Given the description of an element on the screen output the (x, y) to click on. 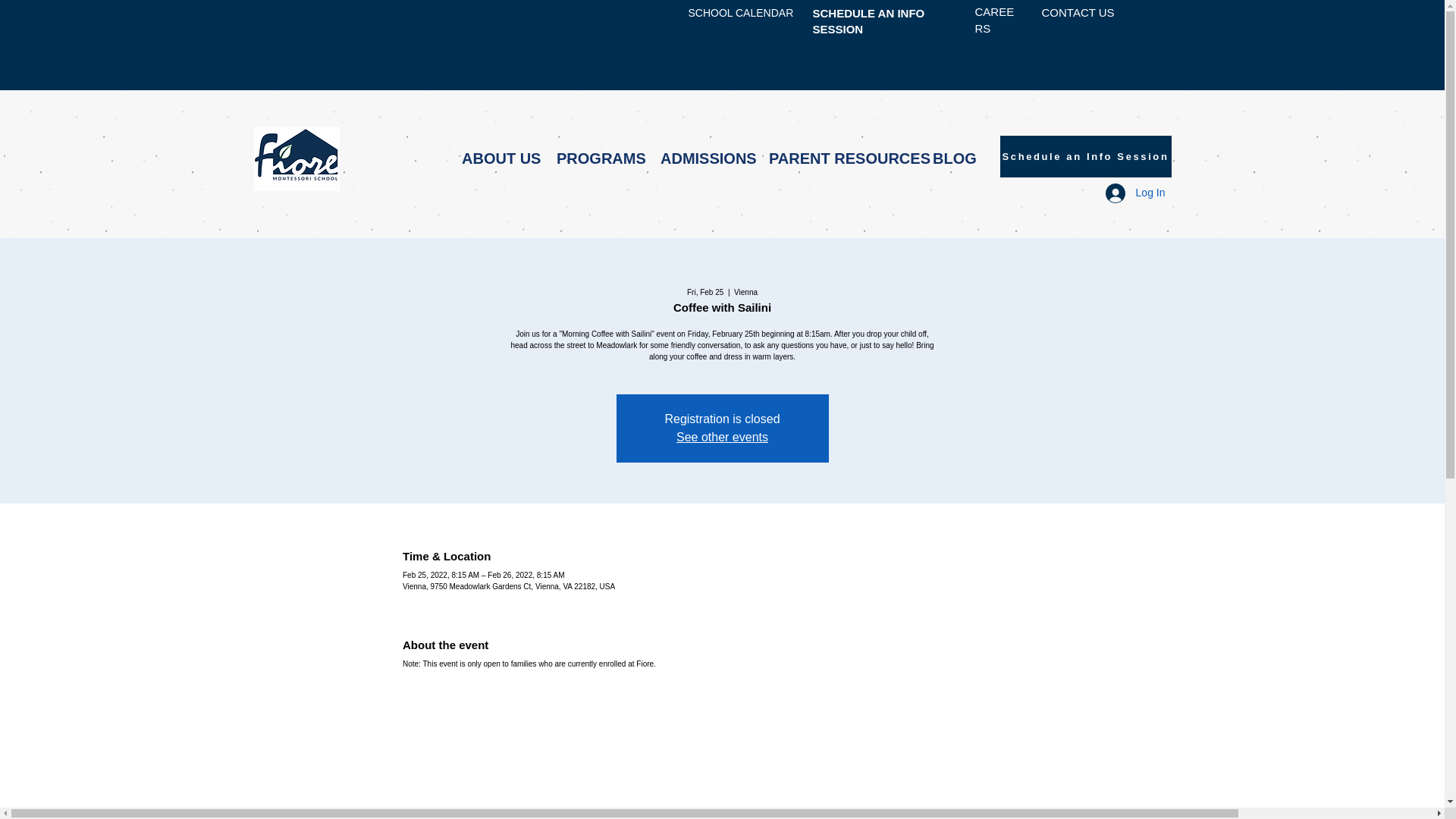
CAREERS (994, 19)
Schedule an Info Session (1084, 156)
SCHOOL CALENDAR (740, 12)
BLOG (952, 158)
ABOUT US (496, 158)
PROGRAMS (596, 158)
ADMISSIONS (703, 158)
SCHEDULE AN INFO SESSION (868, 21)
PARENT RESOURCES (839, 158)
Log In (1135, 193)
See other events (722, 436)
CONTACT US (1078, 11)
